Given the description of an element on the screen output the (x, y) to click on. 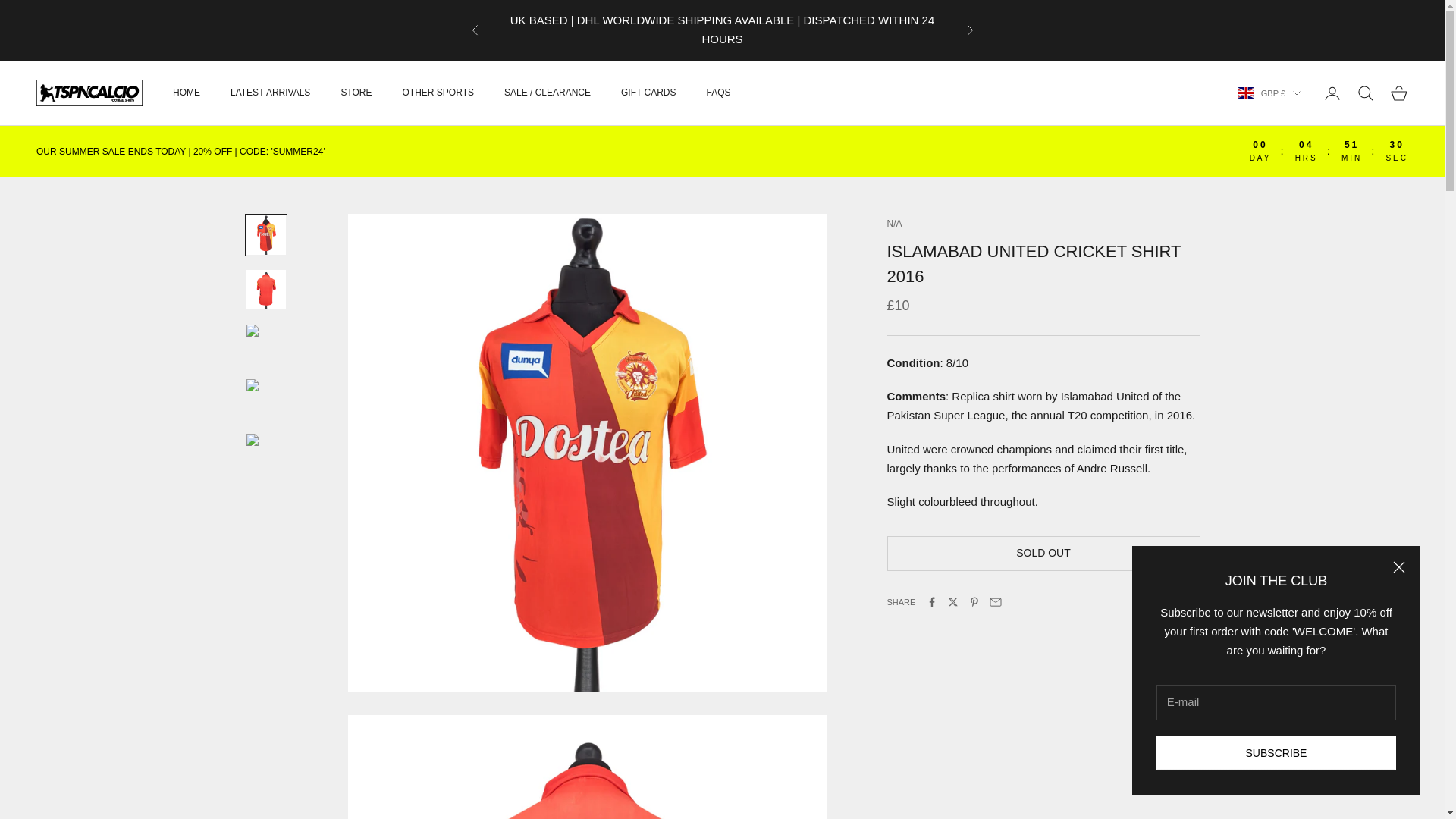
TSPN Calcio (89, 92)
LATEST ARRIVALS (270, 92)
Newsletter popup (1276, 670)
HOME (186, 92)
